Given the description of an element on the screen output the (x, y) to click on. 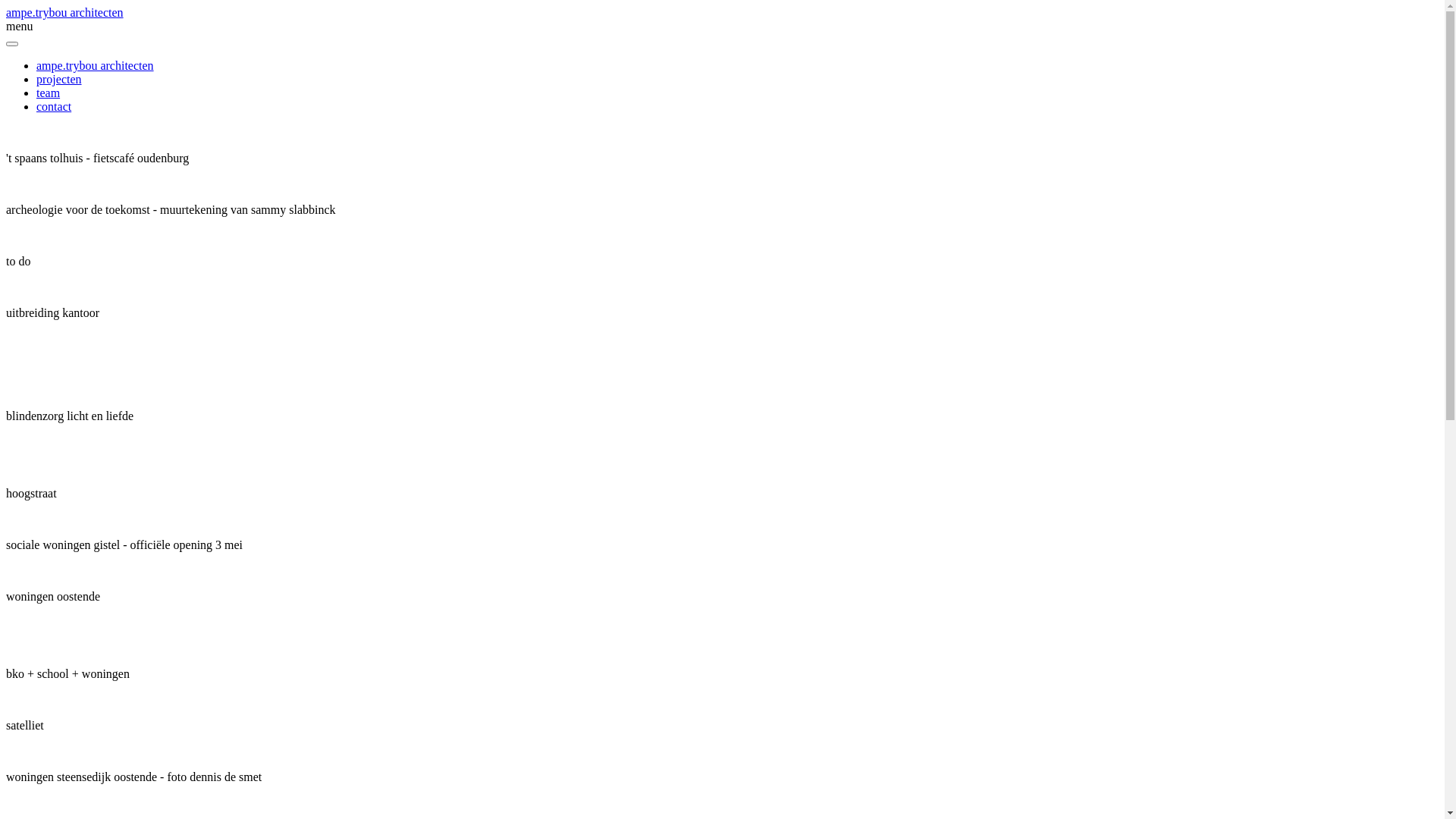
projecten Element type: text (58, 78)
ampe.trybou architecten Element type: text (64, 12)
contact Element type: text (53, 106)
ampe.trybou architecten Element type: text (94, 65)
team Element type: text (47, 92)
